Given the description of an element on the screen output the (x, y) to click on. 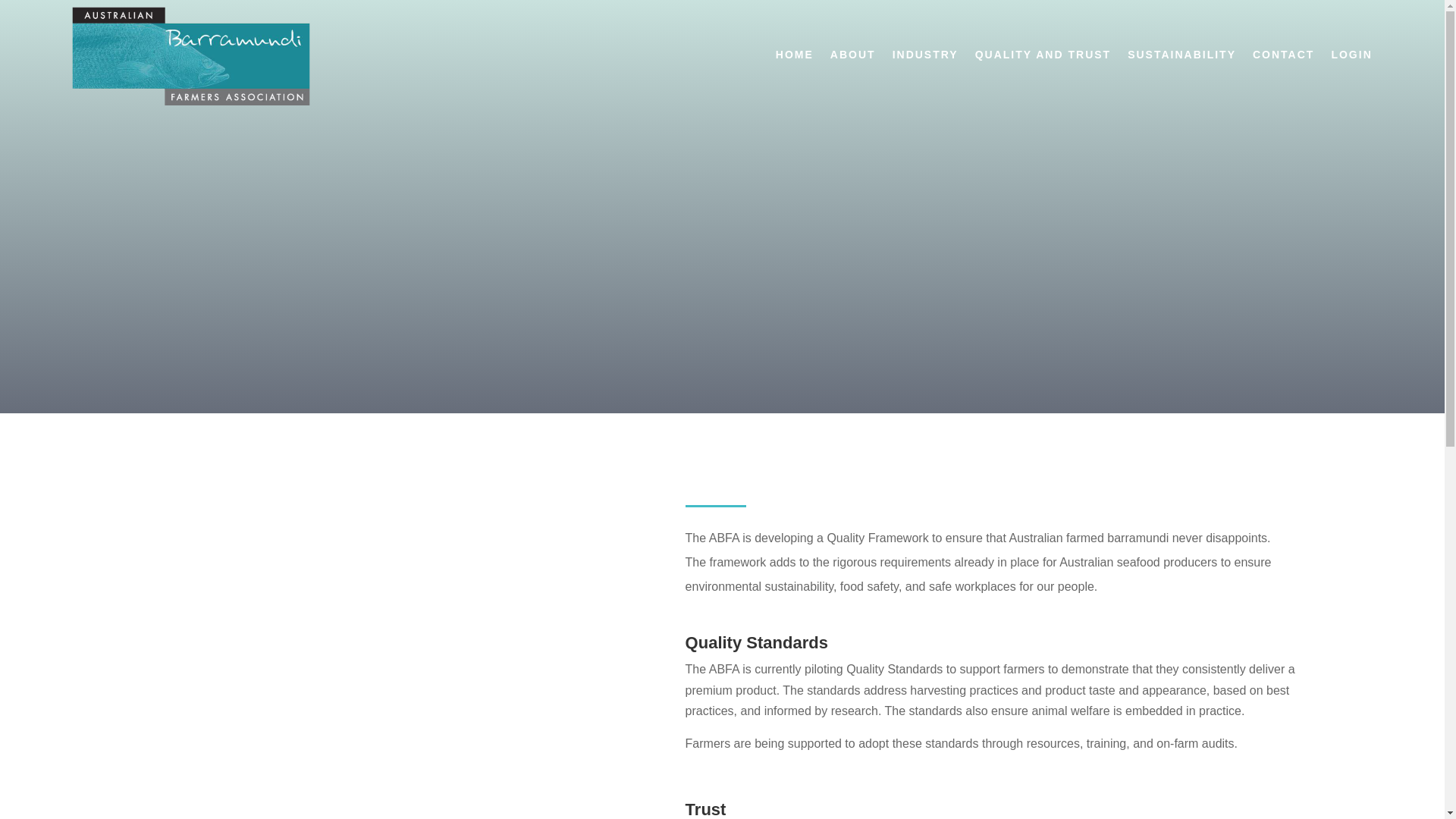
QUALITY AND TRUST Element type: text (1042, 54)
HOME Element type: text (794, 54)
SUSTAINABILITY Element type: text (1181, 54)
INDUSTRY Element type: text (925, 54)
ABOUT Element type: text (852, 54)
LOGIN Element type: text (1350, 54)
CONTACT Element type: text (1283, 54)
